Given the description of an element on the screen output the (x, y) to click on. 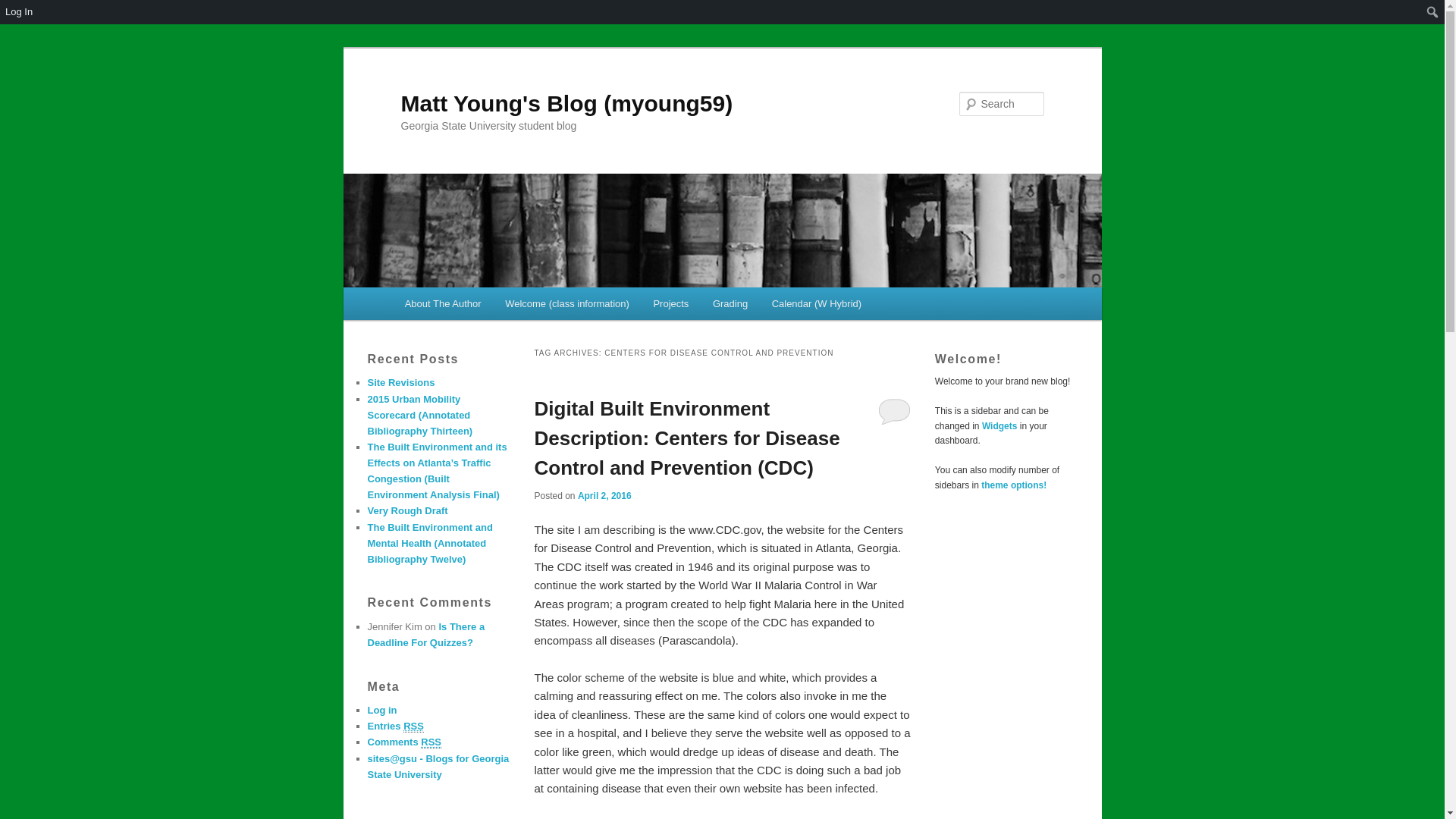
Grading (730, 303)
Site Revisions (399, 382)
theme options! (1013, 484)
Syndicate this site using RSS 2.0 (394, 726)
Projects (671, 303)
Widgets (999, 425)
Skip to secondary content (479, 306)
April 2, 2016 (604, 495)
Search (24, 8)
Very Rough Draft (406, 510)
